Given the description of an element on the screen output the (x, y) to click on. 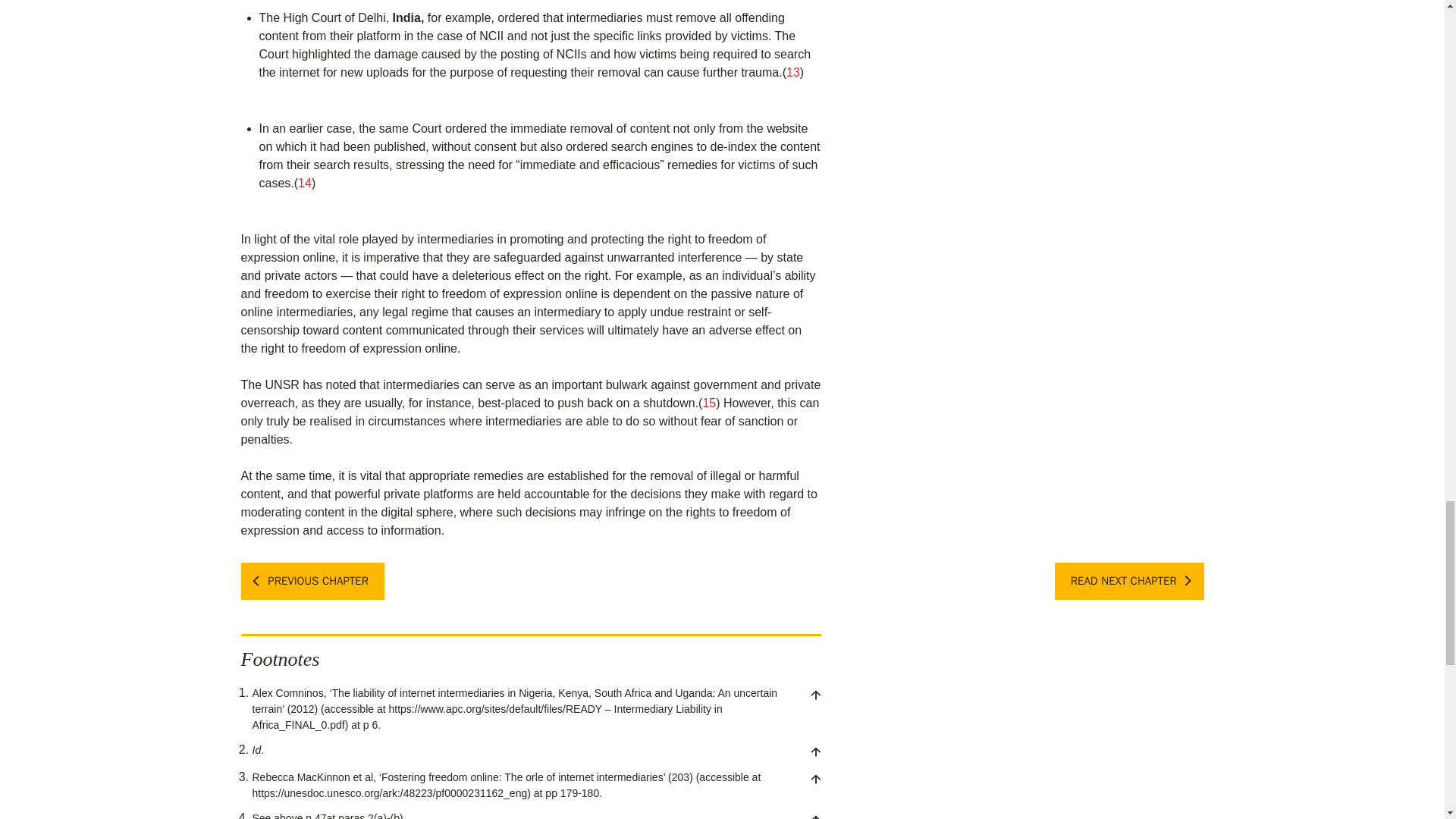
Back (815, 695)
15 (708, 402)
14 (304, 182)
Back (815, 816)
13 (792, 72)
Back (815, 778)
Back (815, 751)
